Given the description of an element on the screen output the (x, y) to click on. 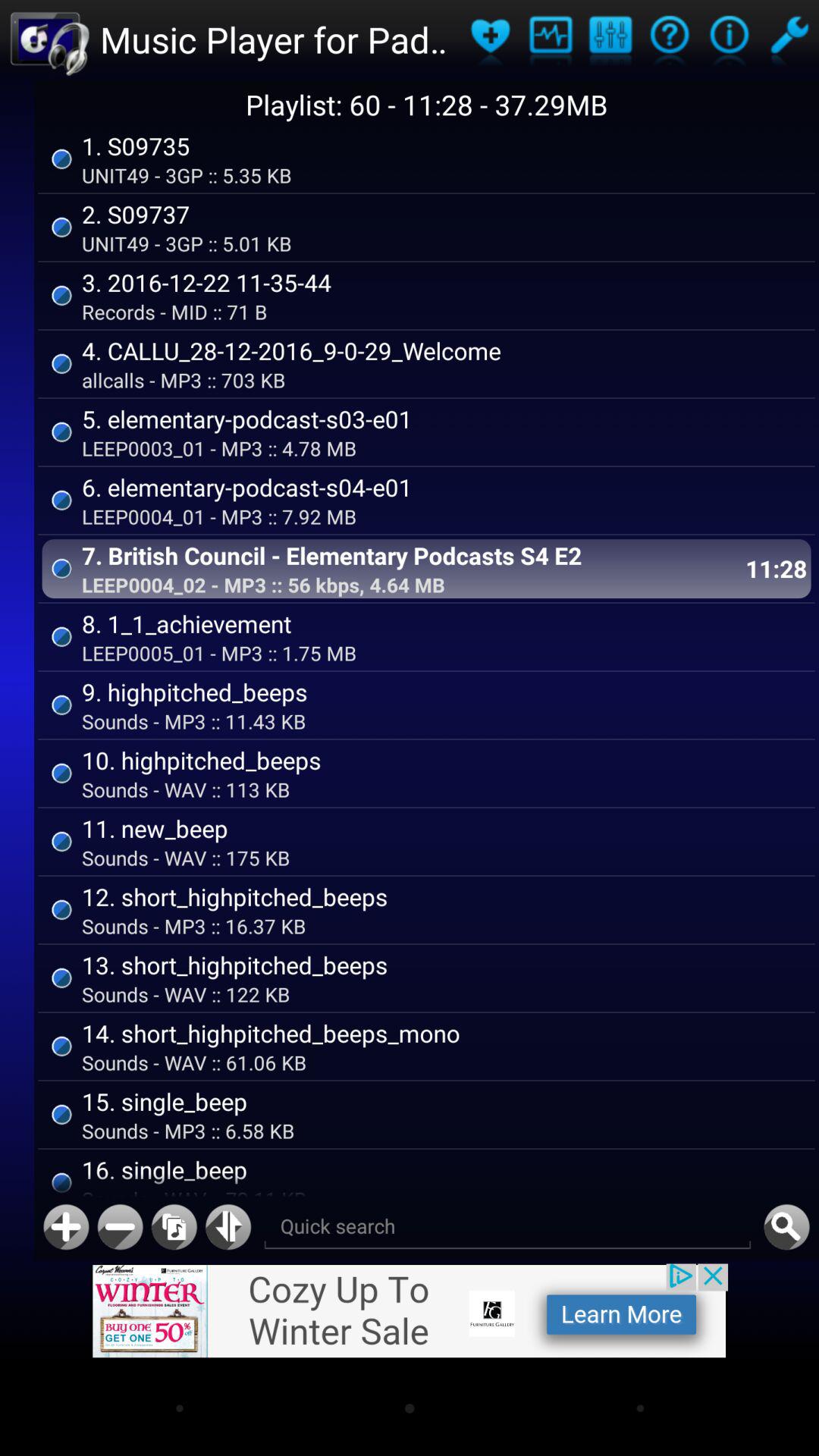
play playlist entry (669, 39)
